Given the description of an element on the screen output the (x, y) to click on. 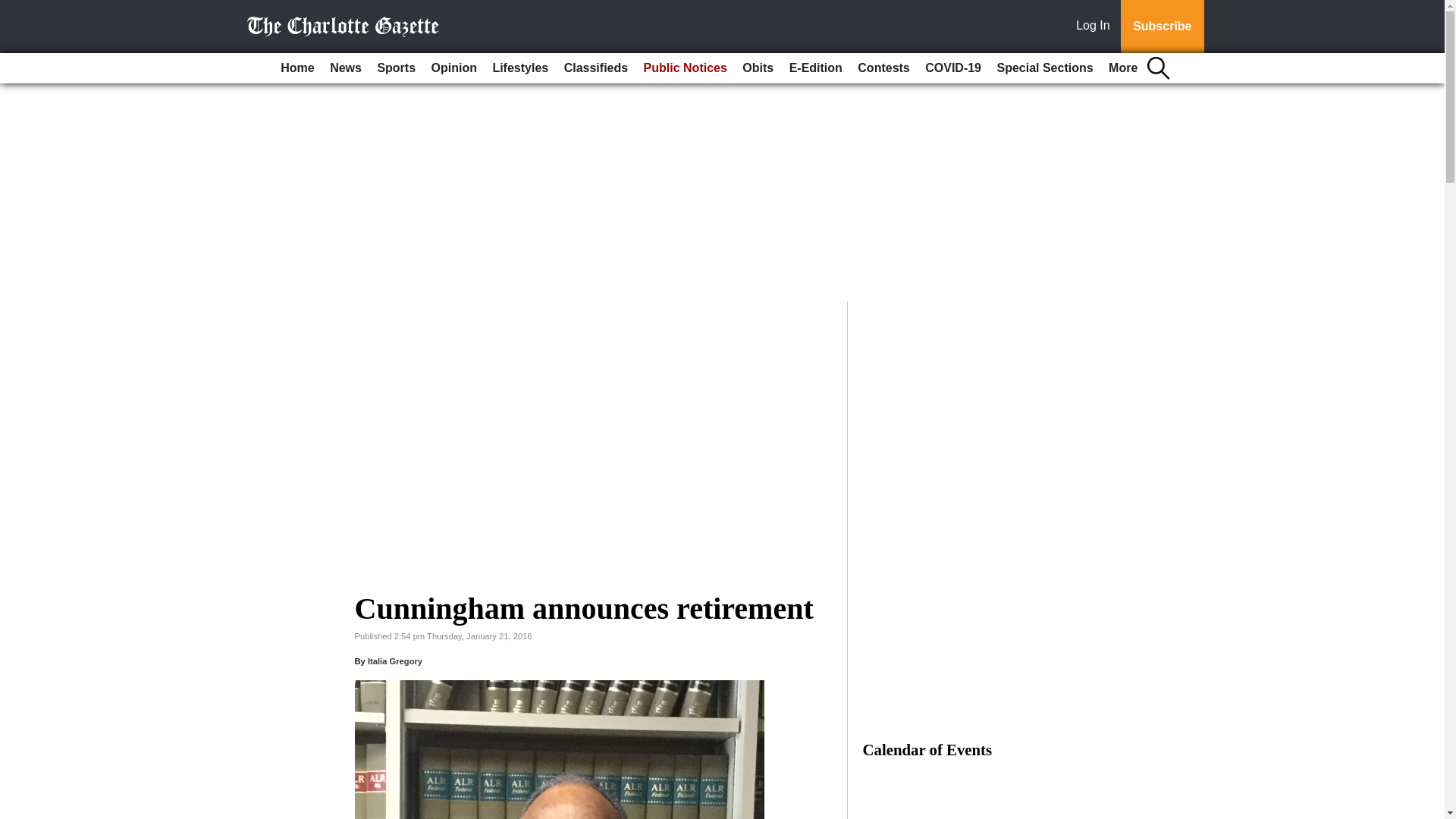
COVID-19 (952, 68)
More (1122, 68)
Go (13, 9)
Special Sections (1044, 68)
Public Notices (685, 68)
News (345, 68)
E-Edition (815, 68)
Log In (1095, 26)
Subscribe (1162, 26)
Obits (757, 68)
Opinion (453, 68)
Sports (396, 68)
Home (297, 68)
Lifestyles (520, 68)
Contests (883, 68)
